Given the description of an element on the screen output the (x, y) to click on. 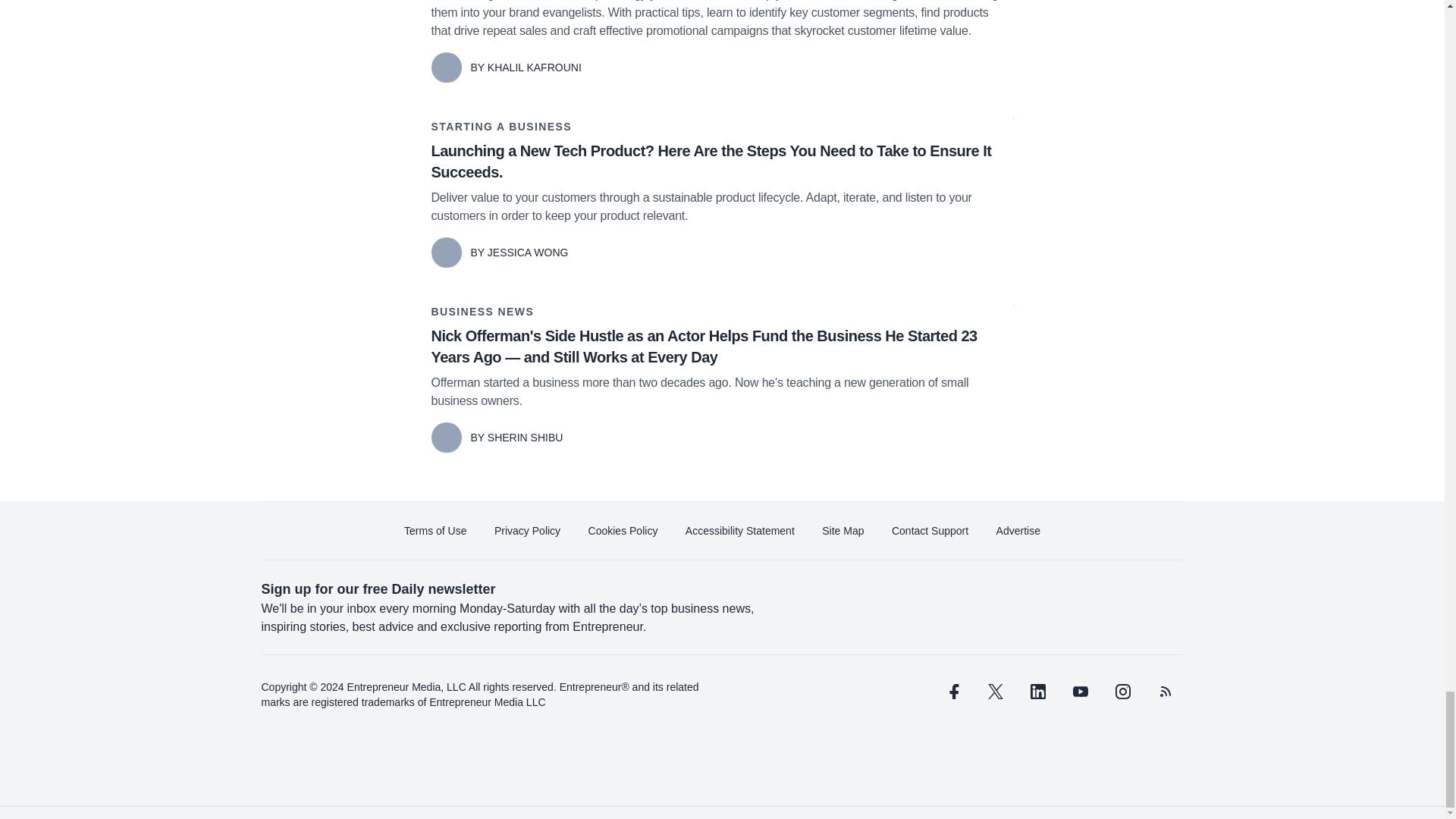
twitter (994, 691)
rss (1164, 691)
instagram (1121, 691)
youtube (1079, 691)
facebook (952, 691)
linkedin (1037, 691)
